Given the description of an element on the screen output the (x, y) to click on. 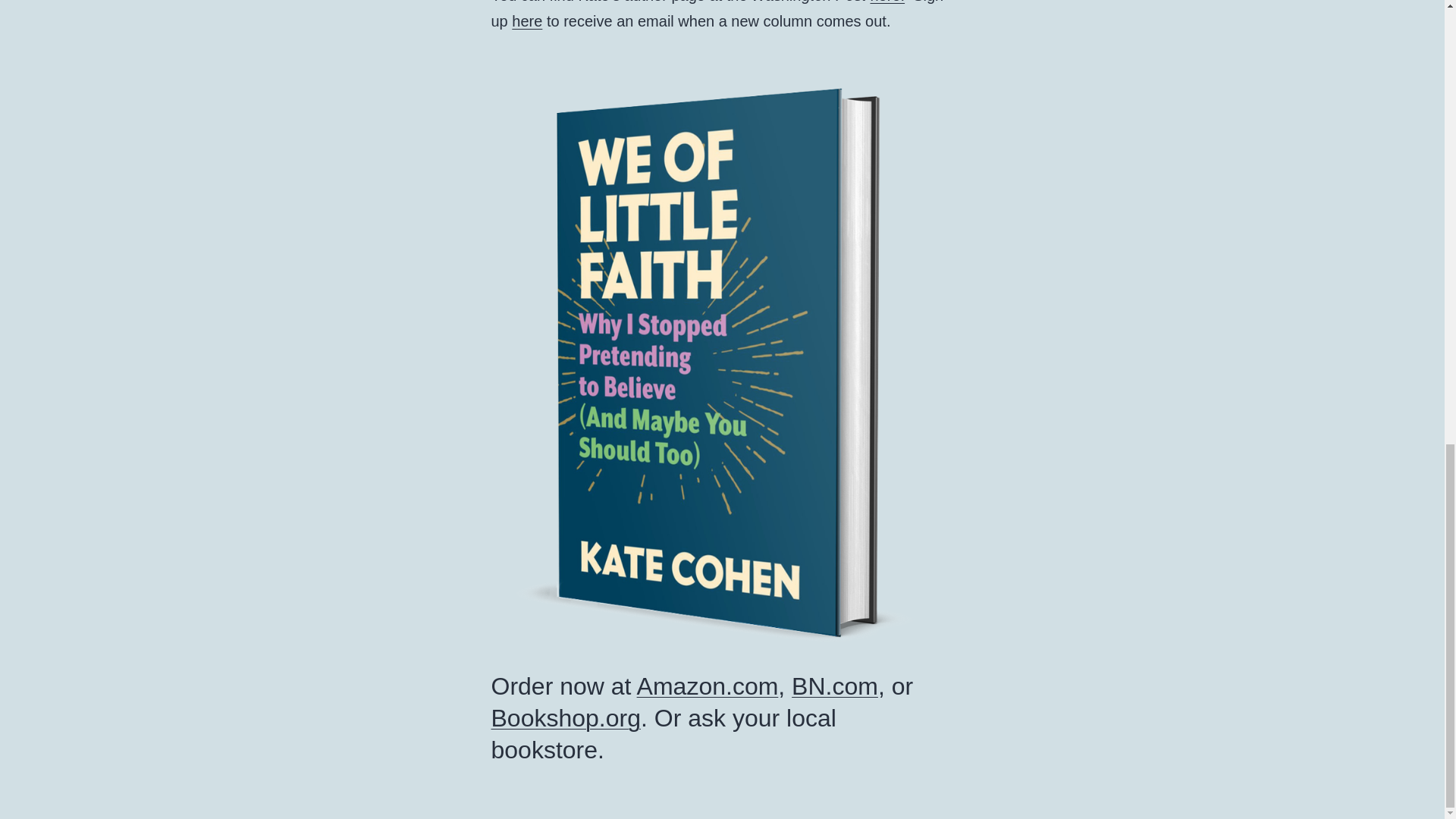
BN.com (834, 686)
here (526, 21)
here. (887, 2)
Bookshop.org (566, 718)
Amazon.com (707, 686)
